Given the description of an element on the screen output the (x, y) to click on. 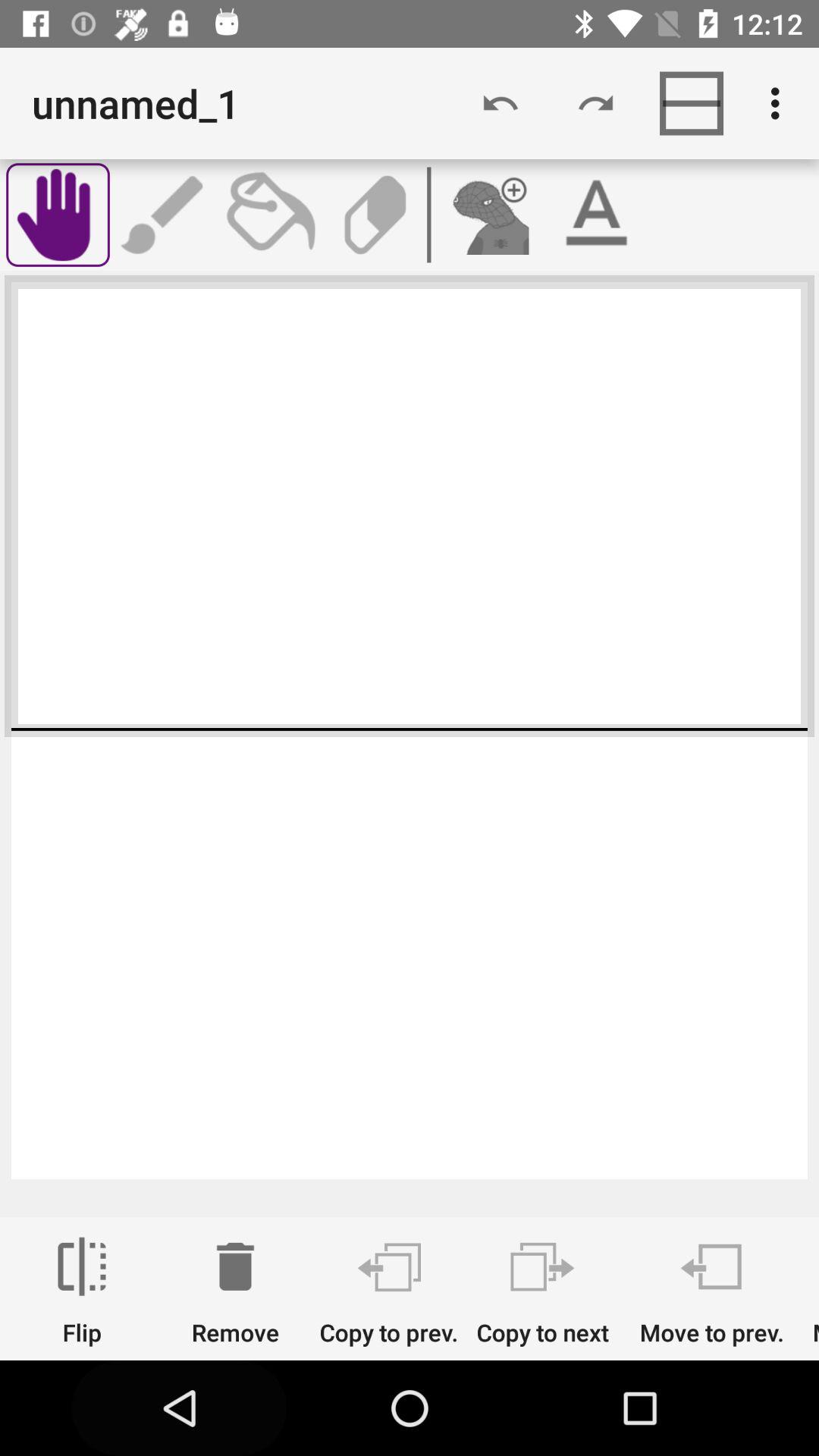
pick paint (269, 214)
